Given the description of an element on the screen output the (x, y) to click on. 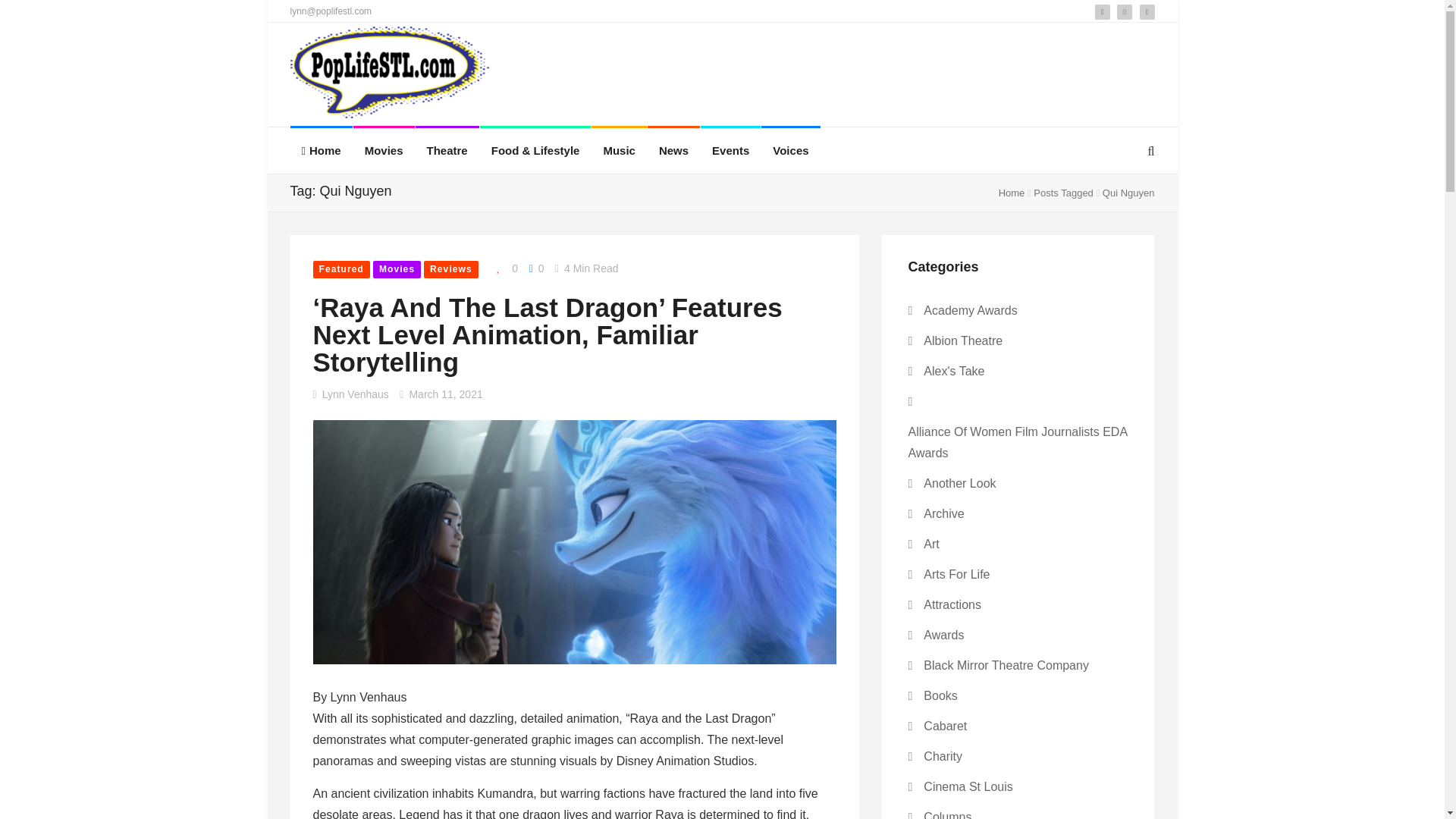
Alliance Of Women Film Journalists EDA Awards (1018, 442)
Academy Awards (969, 310)
Featured (341, 269)
Pop Life STL (389, 75)
Black Mirror Theatre Company (1006, 665)
Albion Theatre (963, 340)
Arts For Life (956, 574)
Movies (396, 269)
Alex'S Take (953, 371)
Archive (943, 513)
Awards (943, 634)
Lynn Venhaus (354, 394)
Attractions (952, 604)
March 11, 2021 (445, 394)
0 (535, 268)
